Given the description of an element on the screen output the (x, y) to click on. 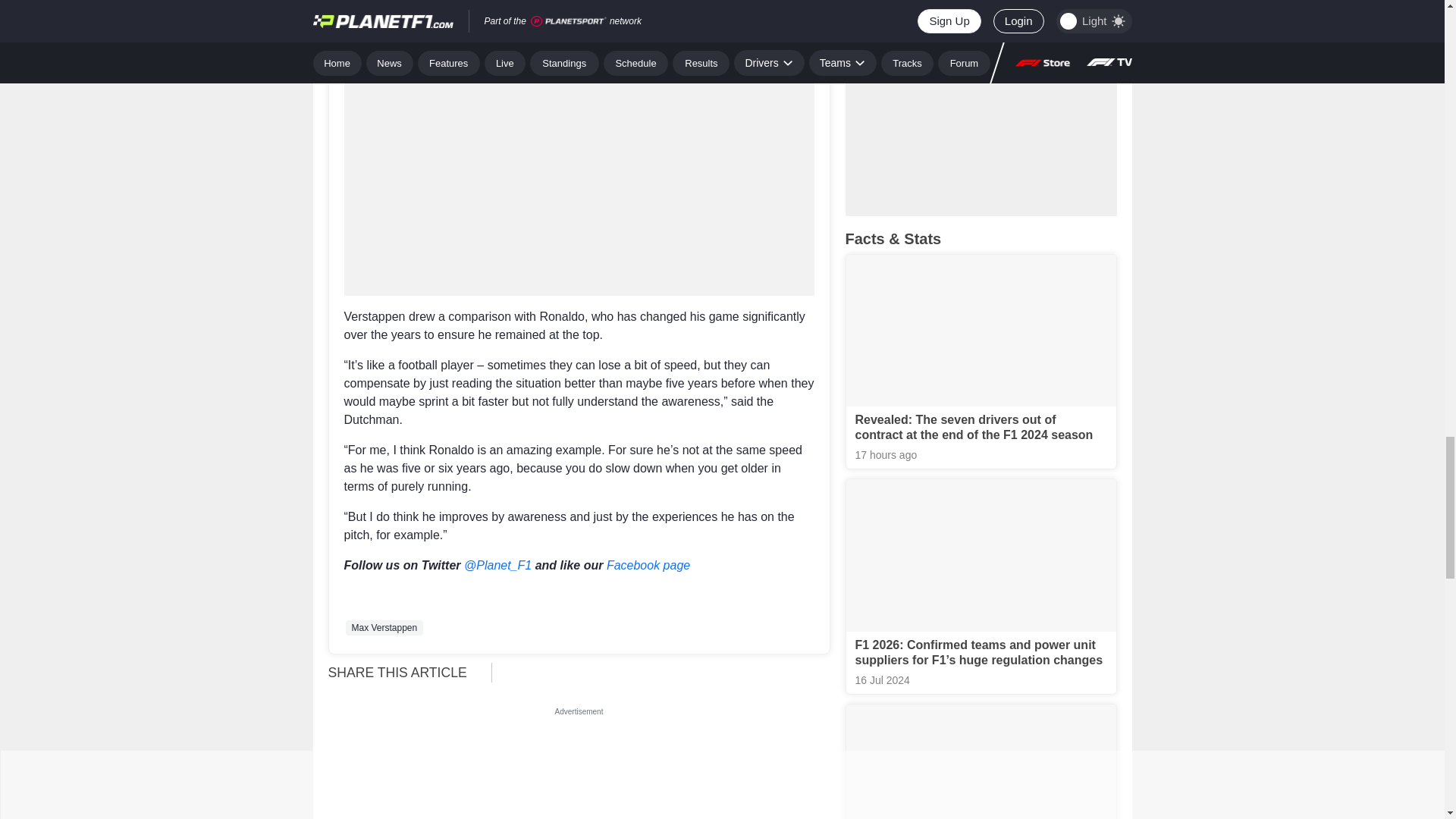
3rd party ad content (579, 769)
Vuukle Sharebar Widget (666, 671)
3rd party ad content (579, 6)
